Given the description of an element on the screen output the (x, y) to click on. 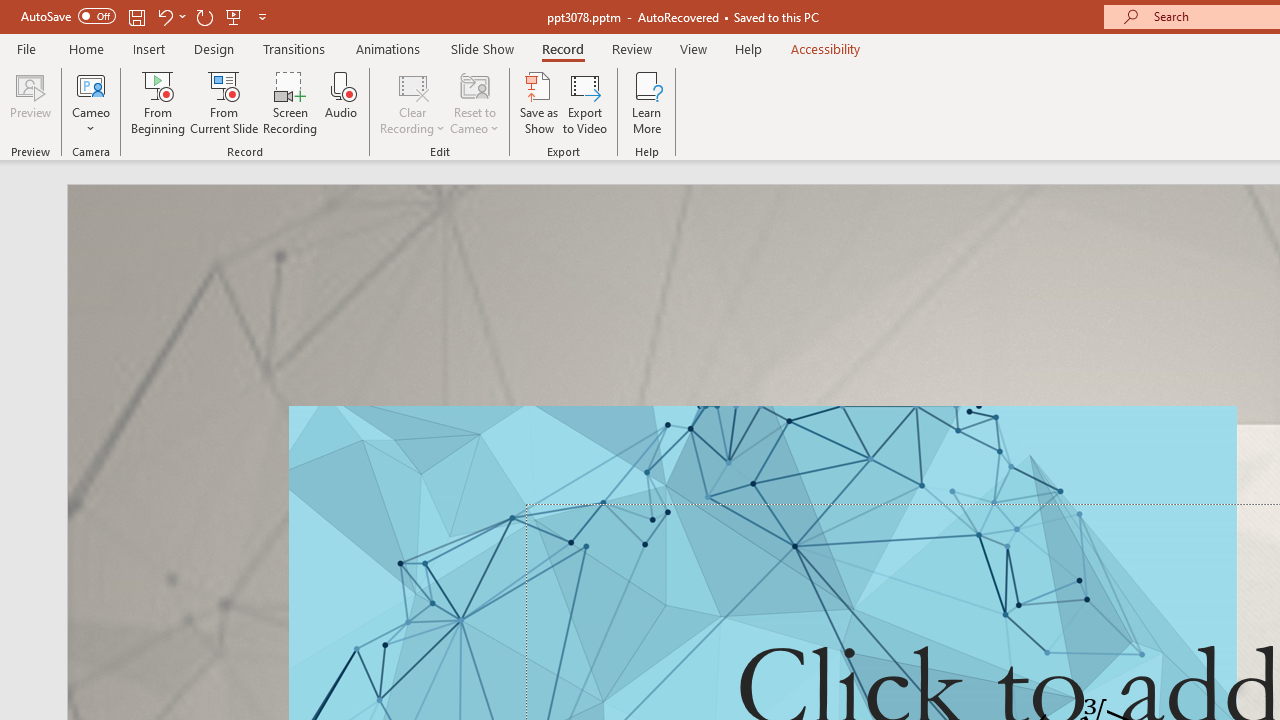
Preview (30, 102)
